Given the description of an element on the screen output the (x, y) to click on. 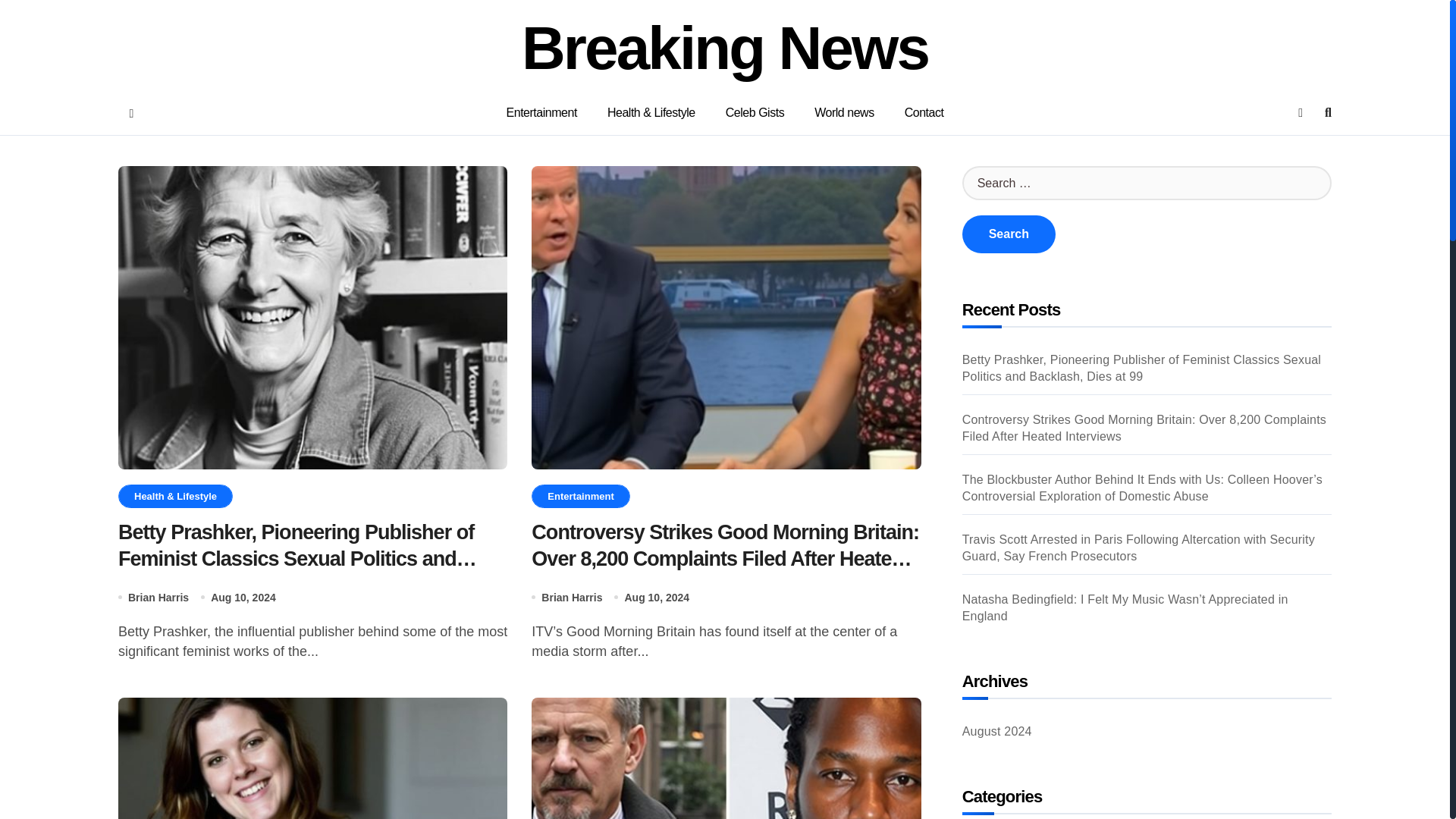
Contact (924, 112)
World news (844, 112)
Aug 10, 2024 (243, 597)
World news (844, 112)
Breaking News (724, 47)
Search (1008, 234)
Contact (924, 112)
Entertainment (579, 495)
Entertainment (542, 112)
